Given the description of an element on the screen output the (x, y) to click on. 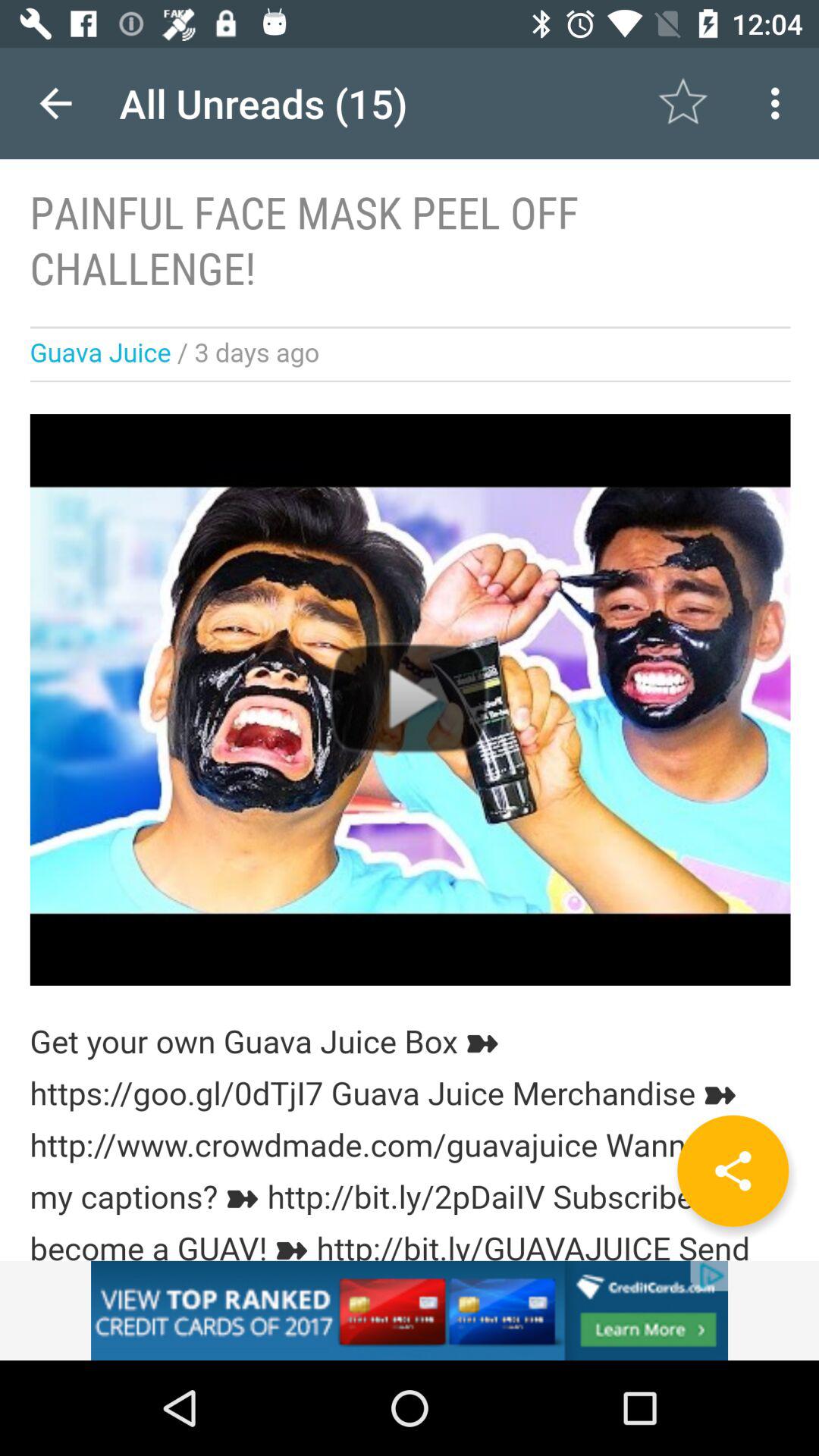
share link (733, 1171)
